Given the description of an element on the screen output the (x, y) to click on. 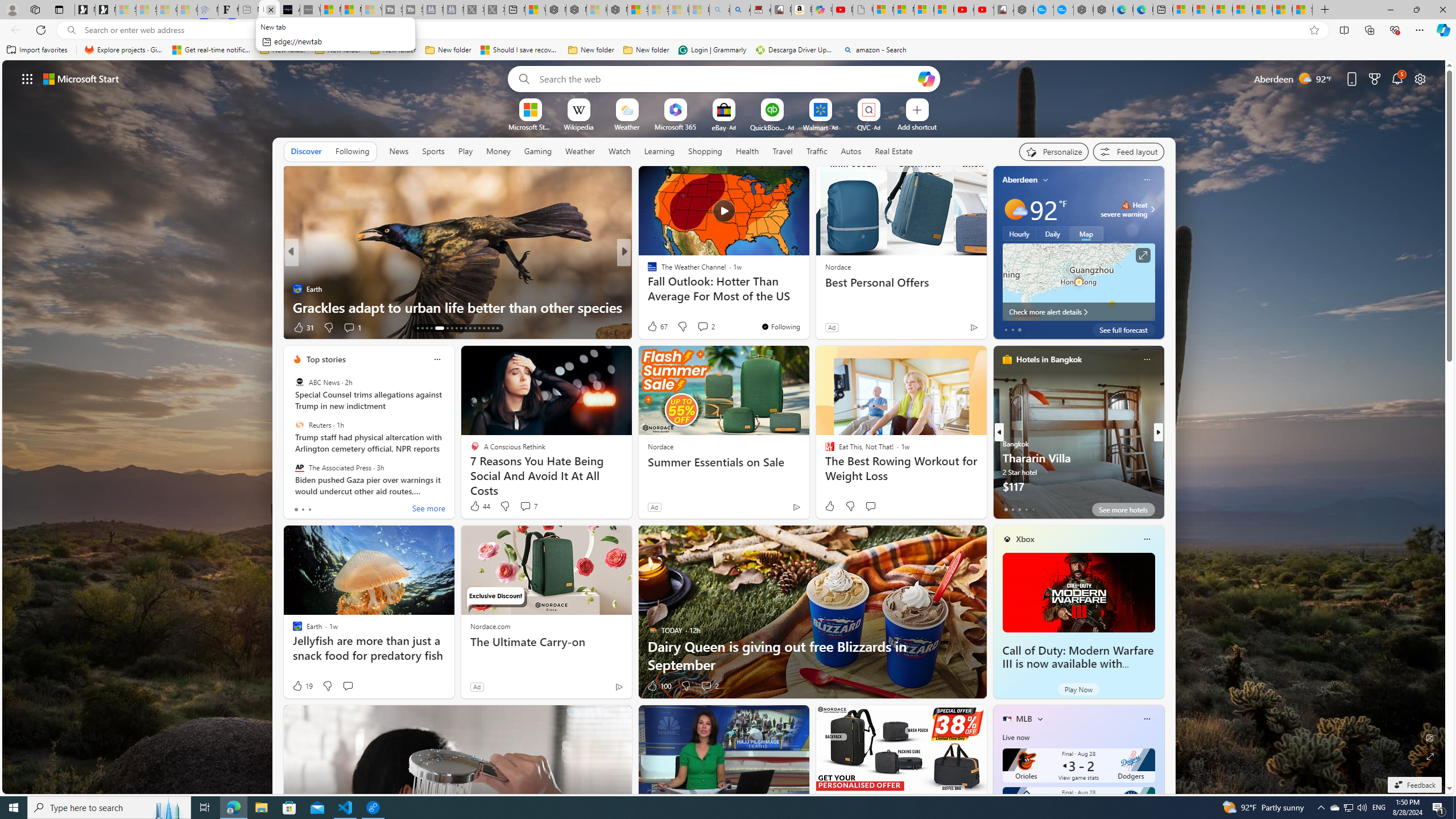
CNBC (647, 270)
The Ultimate Carry-on (546, 641)
Shopping (705, 151)
Microsoft Start Sports (330, 9)
amazon - Search - Sleeping (719, 9)
20 Like (652, 327)
Larger map  (1077, 282)
View comments 11 Comment (707, 327)
next (1158, 432)
Ad (476, 686)
Hotels in Bangkok (1048, 359)
Back (13, 29)
